Given the description of an element on the screen output the (x, y) to click on. 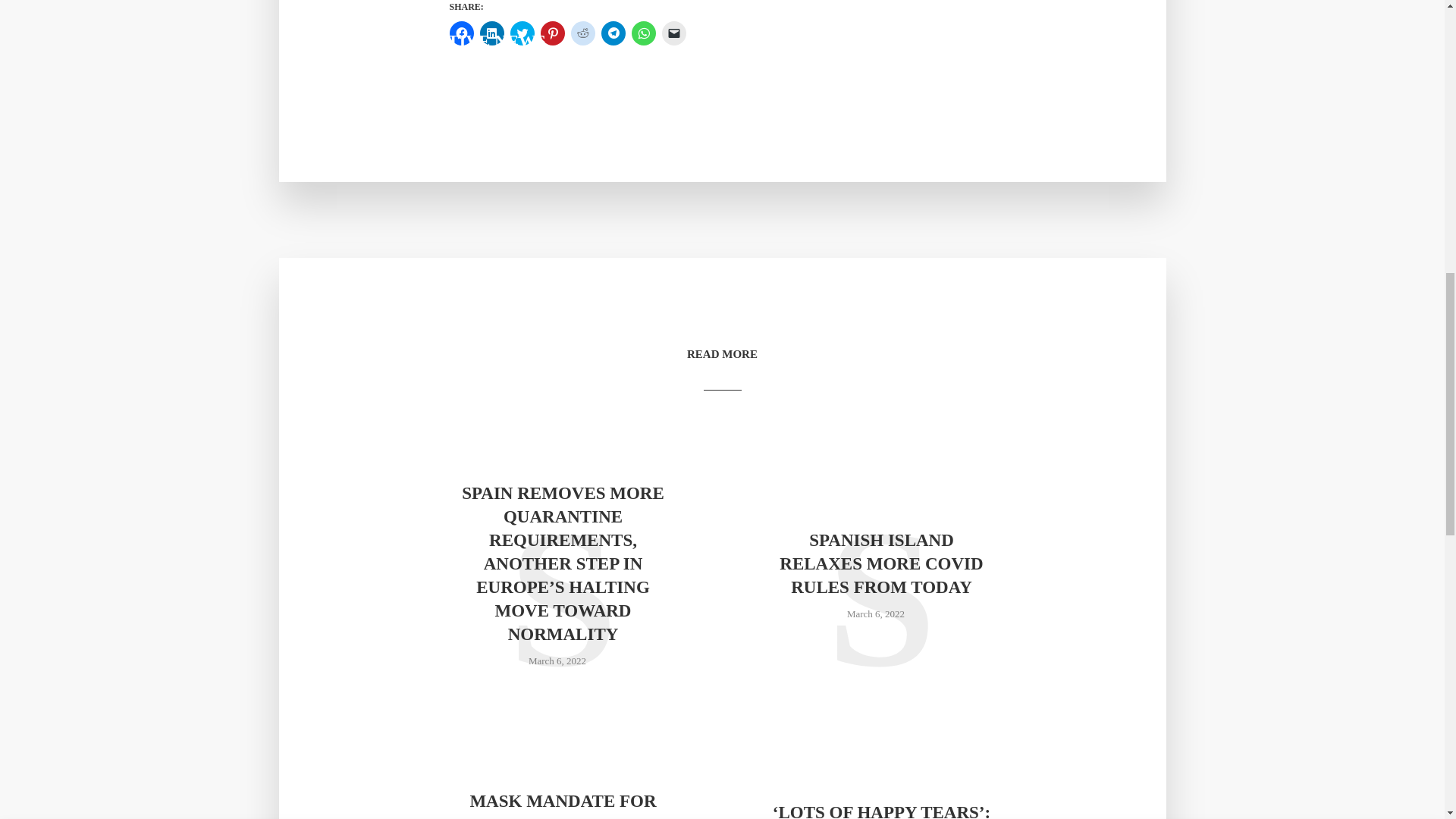
Click to email a link to a friend (673, 33)
Click to share on Facebook (460, 33)
Click to share on Pinterest (552, 33)
Click to share on Telegram (611, 33)
Click to share on Reddit (582, 33)
Click to share on LinkedIn (491, 33)
Click to share on Twitter (521, 33)
Click to share on WhatsApp (642, 33)
